Given the description of an element on the screen output the (x, y) to click on. 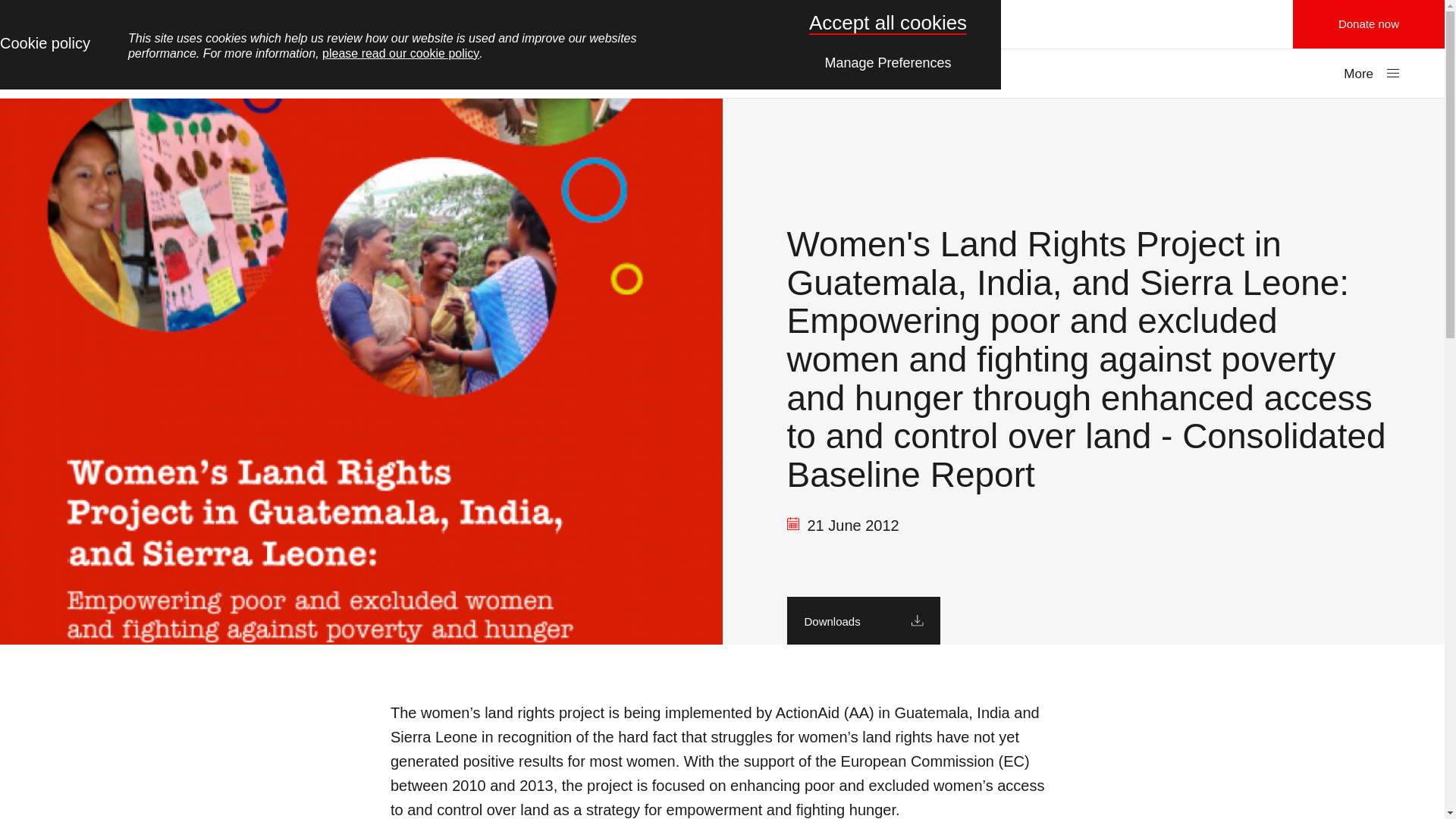
Accept all cookies (887, 23)
Manage Preferences (887, 61)
ActionAid International Home (722, 23)
please read our cookie policy (400, 52)
